Given the description of an element on the screen output the (x, y) to click on. 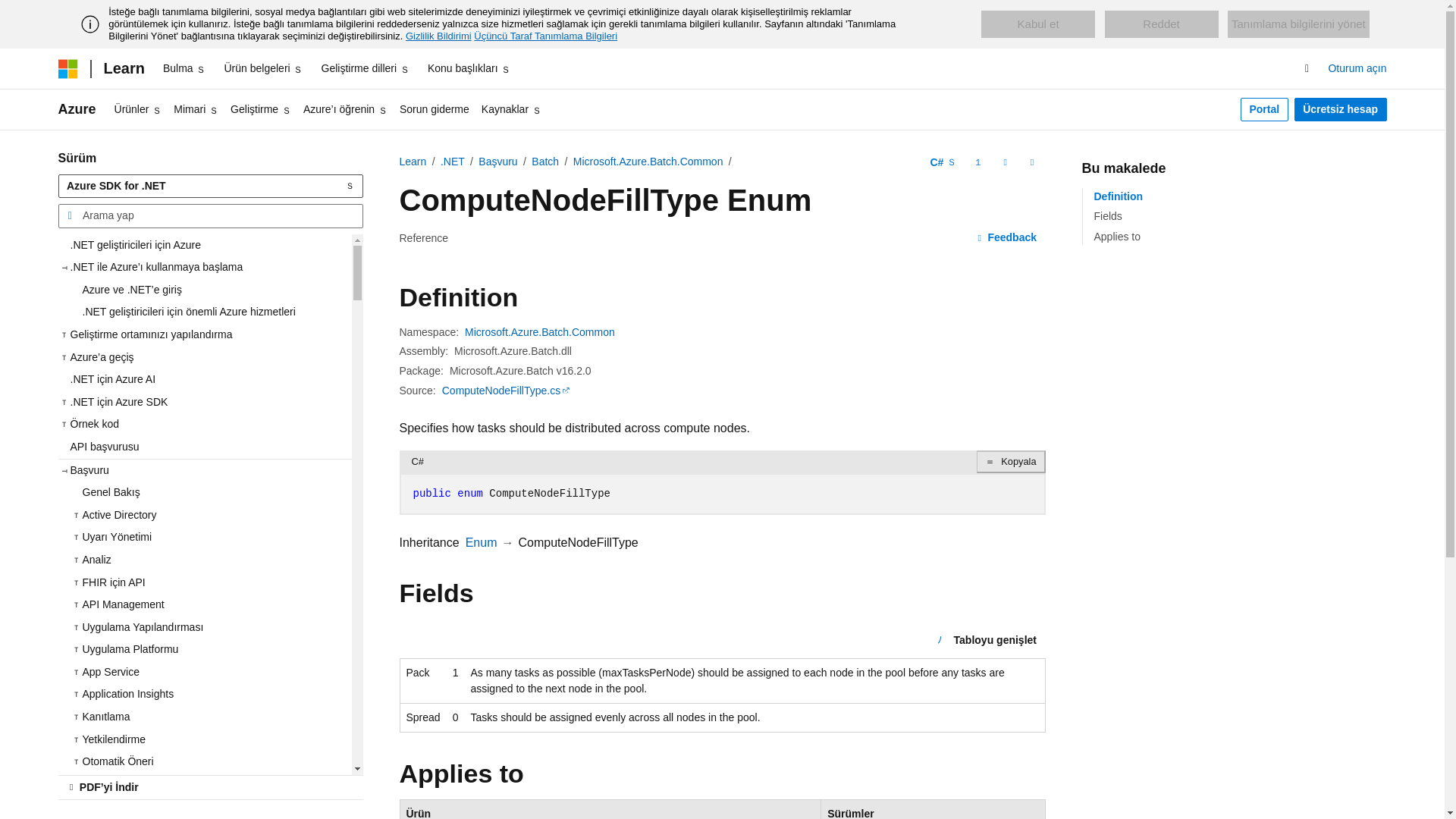
Bulma (184, 68)
Kabul et (1037, 23)
Gizlilik Bildirimi (438, 35)
Dil (943, 161)
Learn (123, 68)
Reddet (1161, 23)
Azure (77, 109)
